Given the description of an element on the screen output the (x, y) to click on. 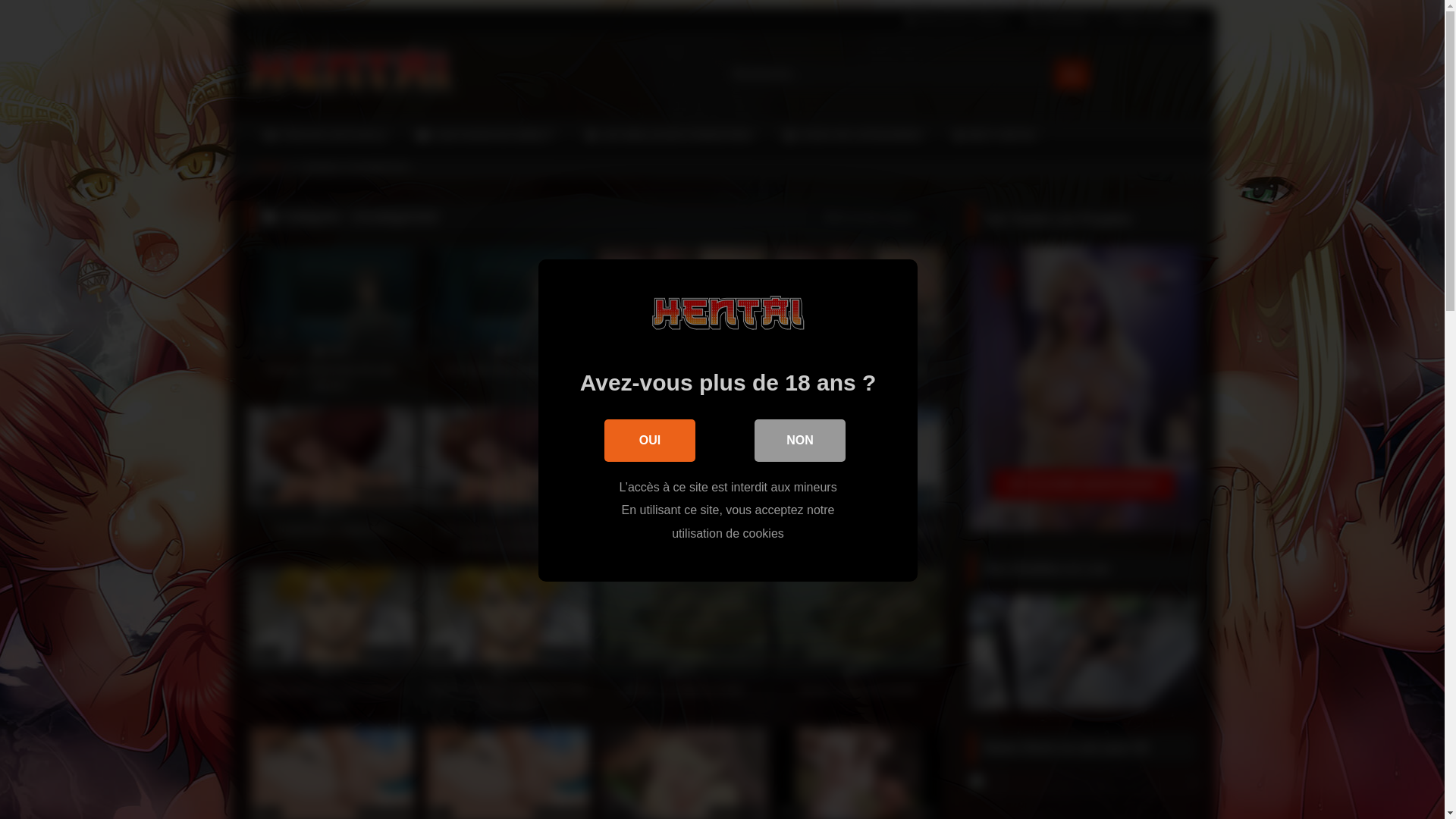
OUI Element type: text (649, 440)
6
01:08:37
0%
Hentai- sex in the woods Element type: text (858, 640)
14
01:13:23
0%
Deux lesbiennes sexy dans un hentai Element type: text (331, 640)
BEST HENTAI Element type: text (994, 135)
LES MEILLEURS PORNSTARS Element type: text (669, 135)
6
01:18:26
0%
Fucked like a Japanese! Element type: text (331, 480)
CAM SHOW EN DIRECT Element type: text (484, 135)
Skip to content Element type: text (229, 6)
promo_player_0 Element type: hover (1082, 652)
NON Element type: text (799, 440)
Se connecter Element type: text (1057, 19)
Home Element type: text (269, 166)
Site Porno de Hentai , Manga , Videos de Sexe Element type: hover (349, 74)
100
01:22:46
0%
De gros chichi pour le satisfaire Element type: text (683, 320)
TROUVE UN PLAN Q Element type: text (324, 135)
110
01:23:28
0%
They want their pussy liked! Element type: text (507, 320)
CHOIX DE CATEGORIES Element type: text (853, 135)
264
01:22:46
0%
Hentai- Few girls for one boy Element type: text (858, 320)
